Given the description of an element on the screen output the (x, y) to click on. 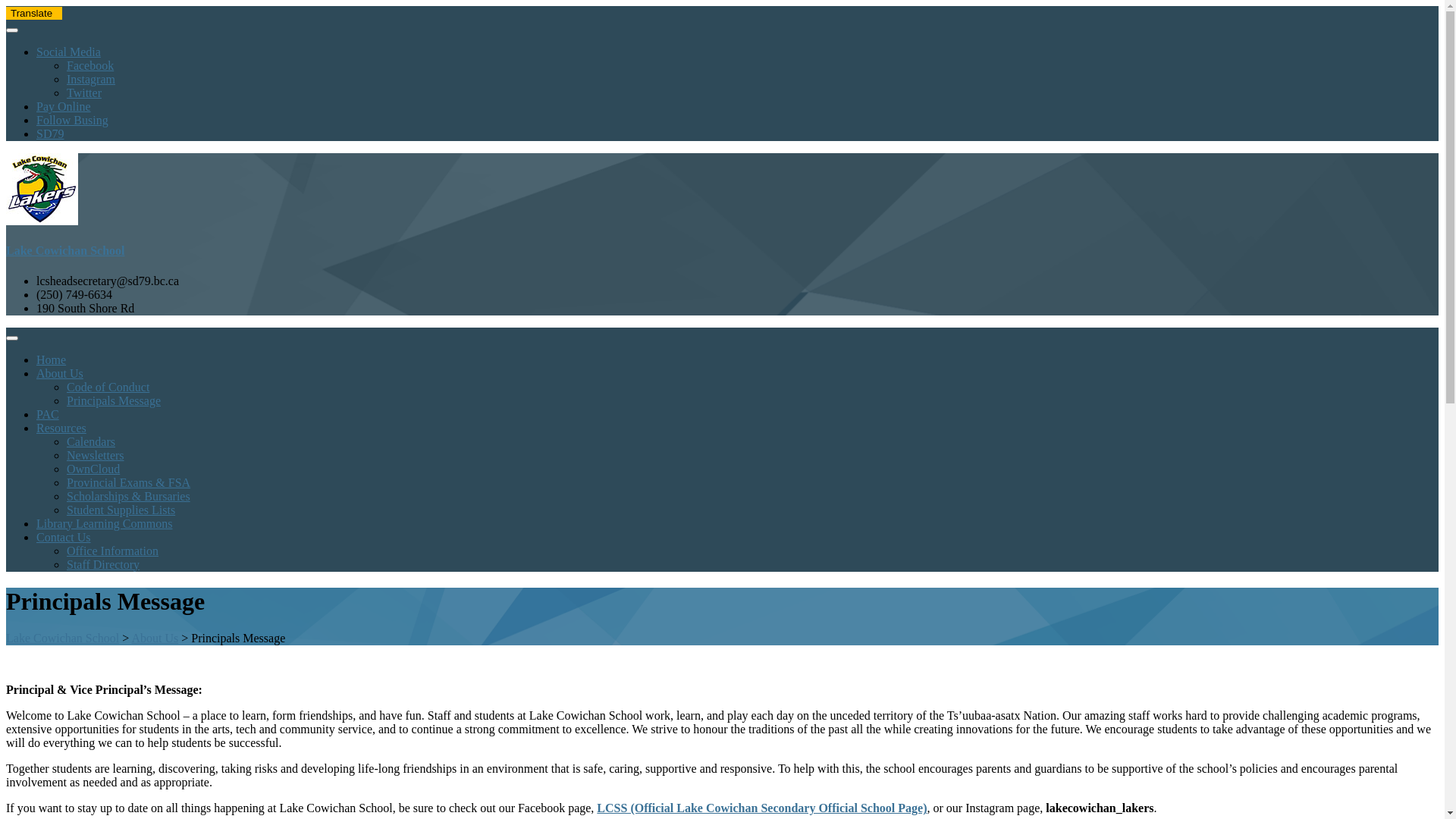
Scholarships & Bursaries Element type: text (752, 496)
Facebook Element type: text (89, 65)
Student Supplies Lists Element type: text (752, 510)
PAC Element type: text (47, 413)
Translate   Element type: text (34, 12)
Twitter Element type: text (83, 92)
Resources Element type: text (61, 427)
Staff Directory Element type: text (752, 564)
Provincial Exams & FSA Element type: text (752, 482)
Lake Cowichan School Element type: text (722, 235)
Office Information Element type: text (752, 551)
Lake Cowichan School Element type: text (62, 637)
Contact Us Element type: text (63, 536)
Calendars Element type: text (752, 441)
Instagram Element type: text (90, 78)
About Us Element type: text (154, 637)
OwnCloud Element type: text (752, 469)
LCSS (Official Lake Cowichan Secondary Official School Page) Element type: text (761, 807)
Follow Busing Element type: text (72, 119)
Home Element type: text (50, 359)
Principals Message Element type: text (752, 400)
SD79 Element type: text (49, 133)
Newsletters Element type: text (752, 455)
Code of Conduct Element type: text (752, 387)
Pay Online Element type: text (63, 106)
Library Learning Commons Element type: text (104, 523)
Social Media Element type: text (68, 51)
About Us Element type: text (59, 373)
